Given the description of an element on the screen output the (x, y) to click on. 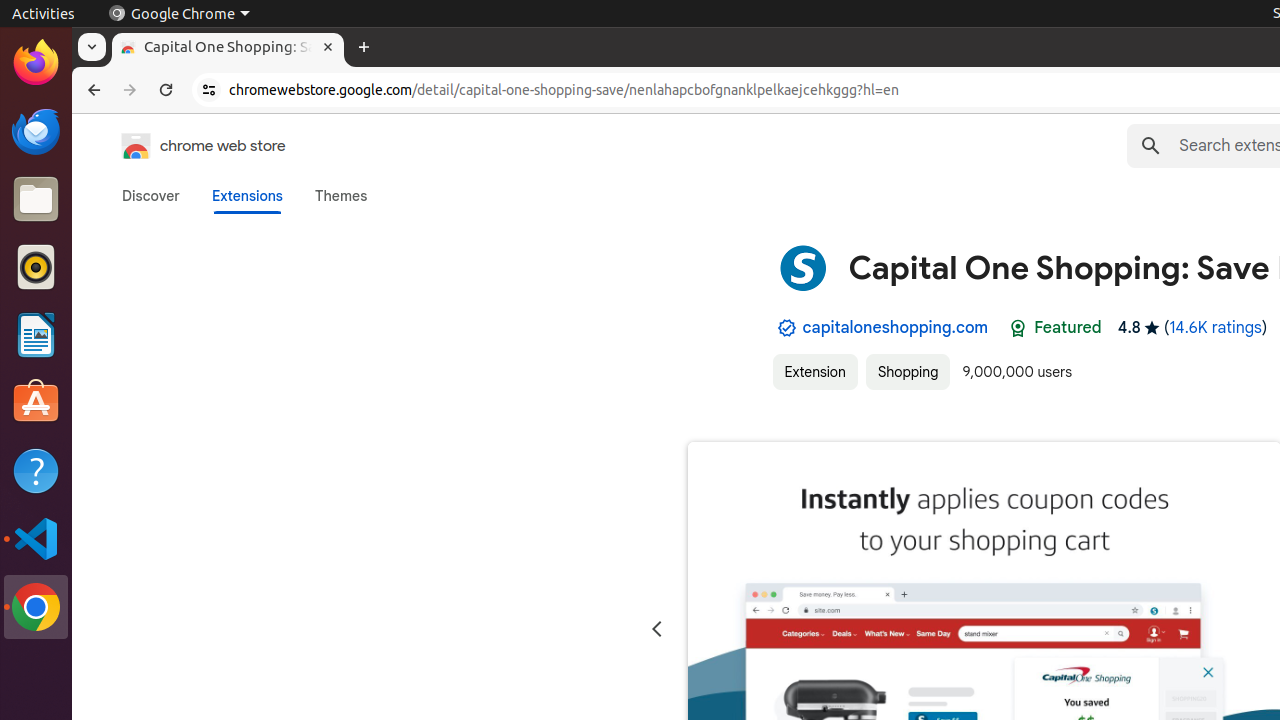
capitaloneshopping.com Element type: link (895, 328)
View site information Element type: push-button (209, 90)
New Tab Element type: push-button (364, 47)
Forward Element type: push-button (130, 90)
Firefox Web Browser Element type: push-button (36, 63)
